Given the description of an element on the screen output the (x, y) to click on. 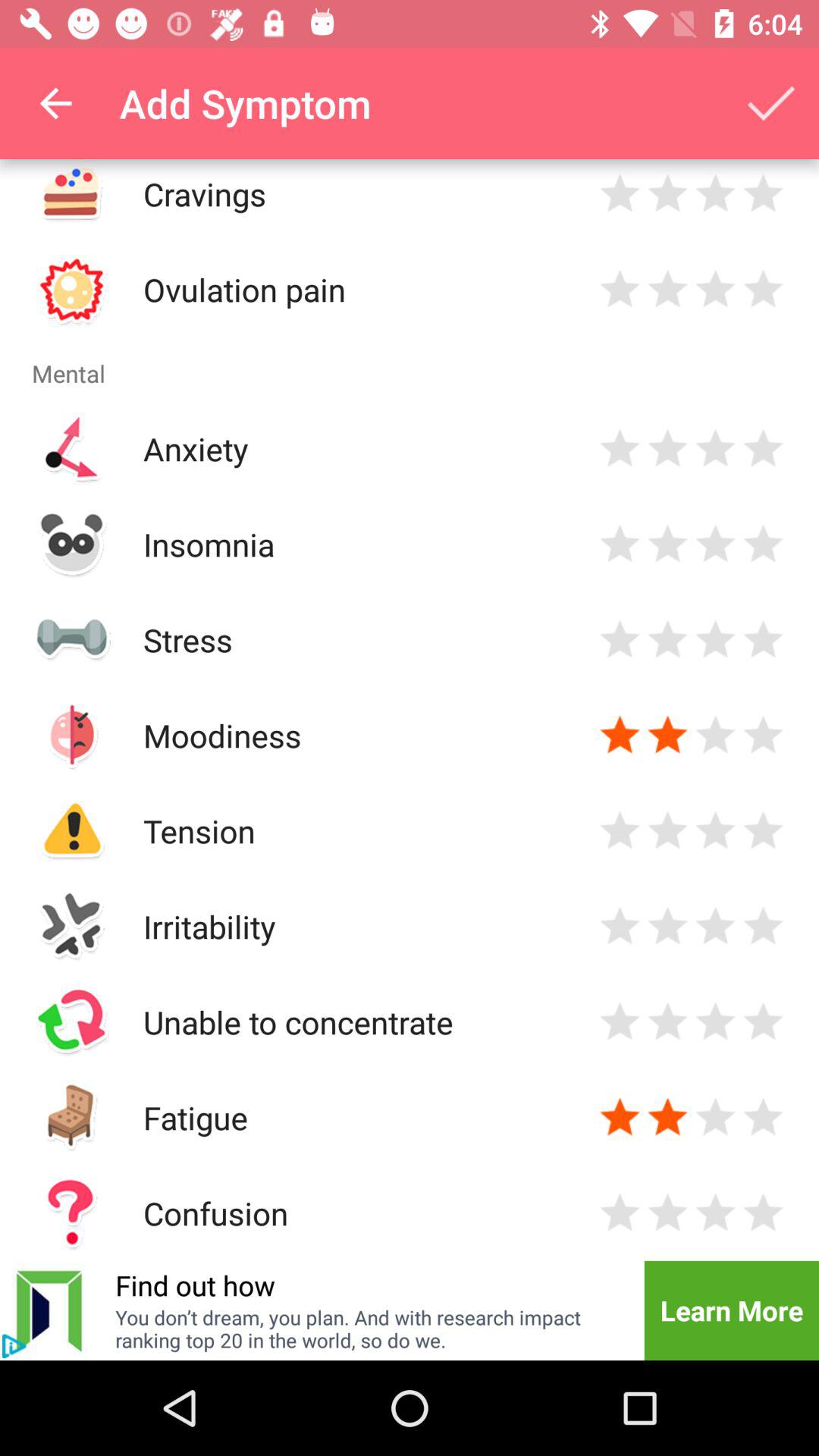
rate item one star (619, 448)
